Given the description of an element on the screen output the (x, y) to click on. 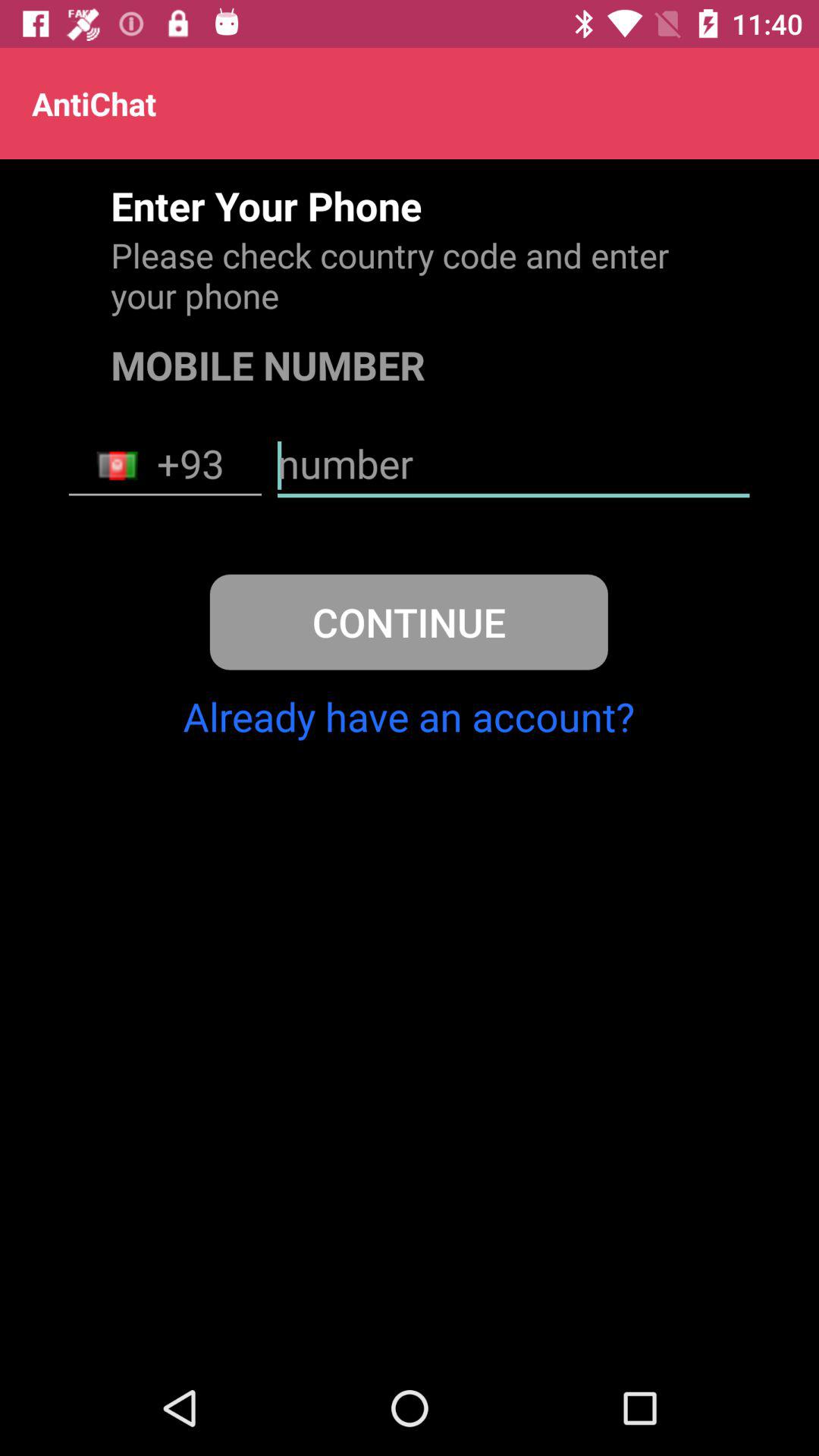
tap item above the continue (513, 466)
